Given the description of an element on the screen output the (x, y) to click on. 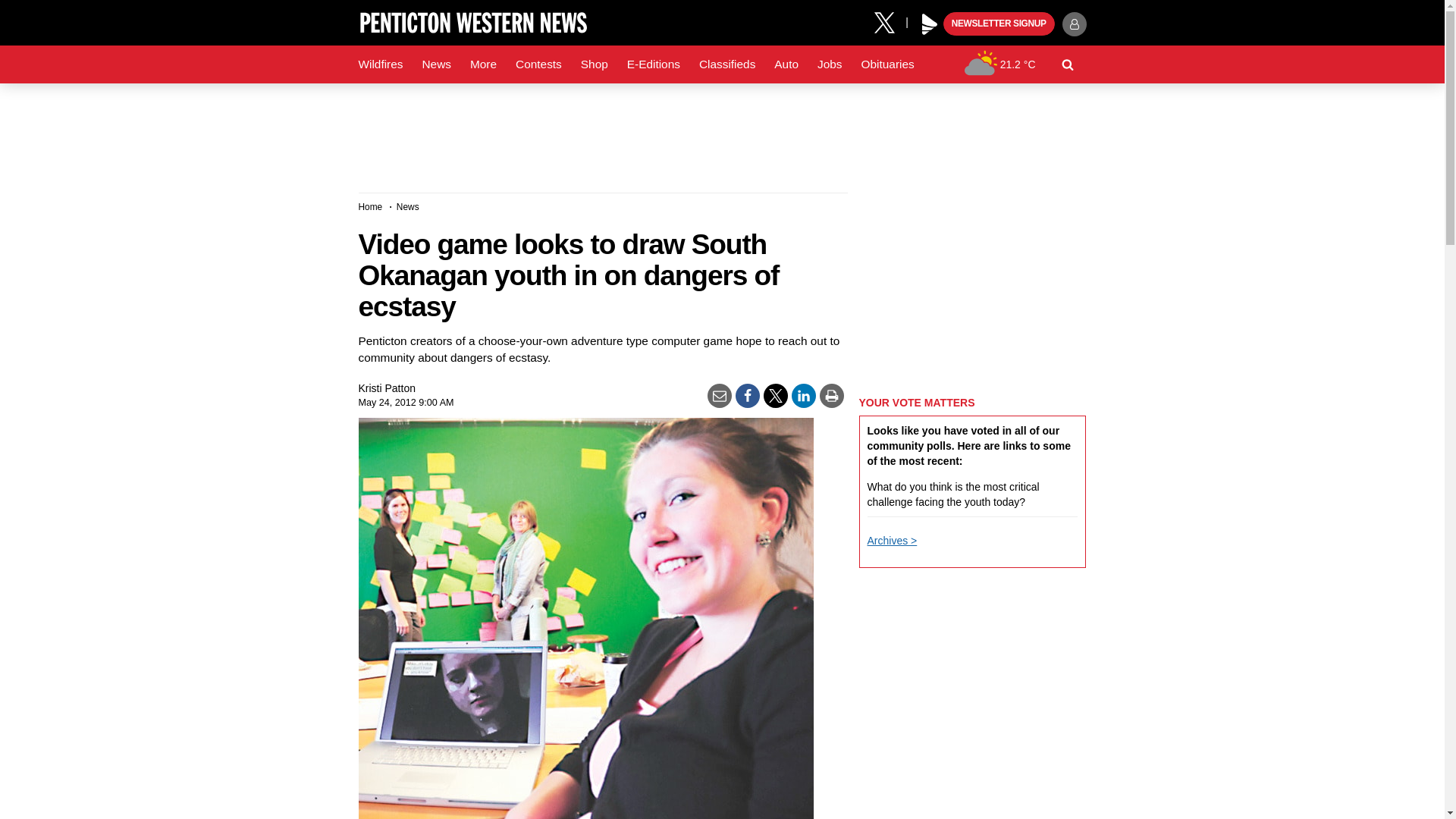
Wildfires (380, 64)
Play (929, 24)
NEWSLETTER SIGNUP (998, 24)
Black Press Media (929, 24)
News (435, 64)
X (889, 21)
